Given the description of an element on the screen output the (x, y) to click on. 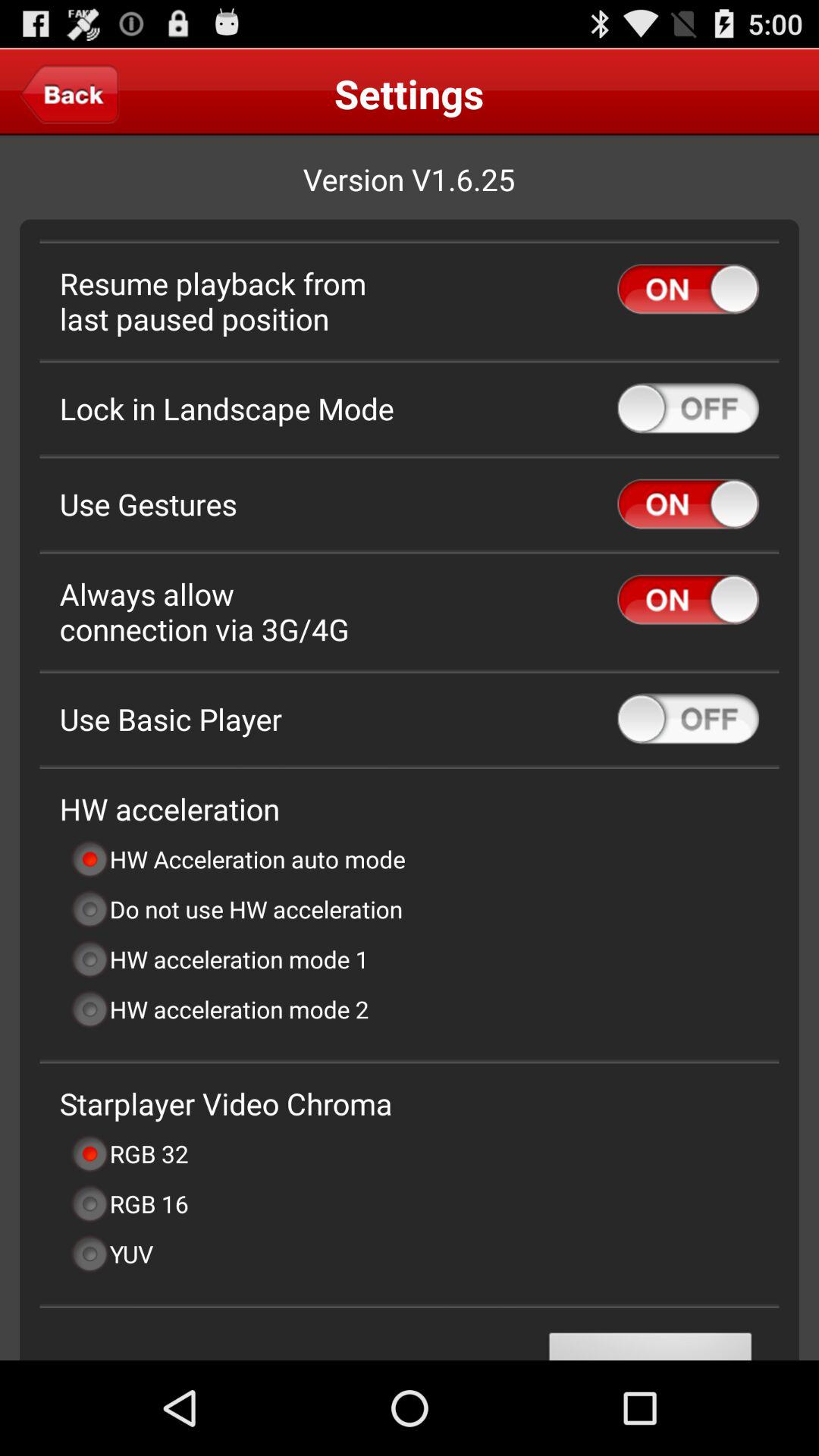
click the do not use item (235, 909)
